Given the description of an element on the screen output the (x, y) to click on. 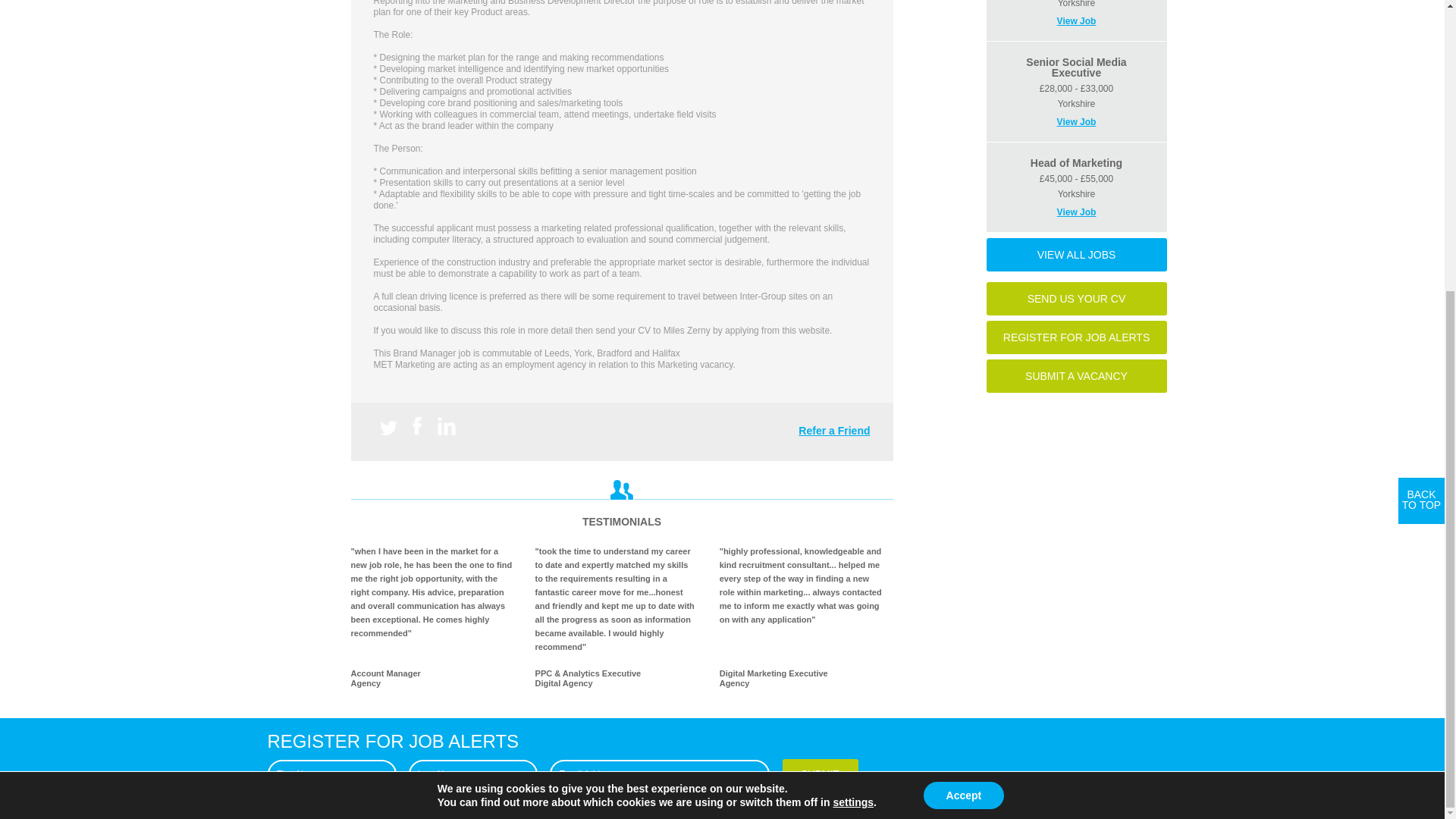
SUBMIT (821, 773)
